Given the description of an element on the screen output the (x, y) to click on. 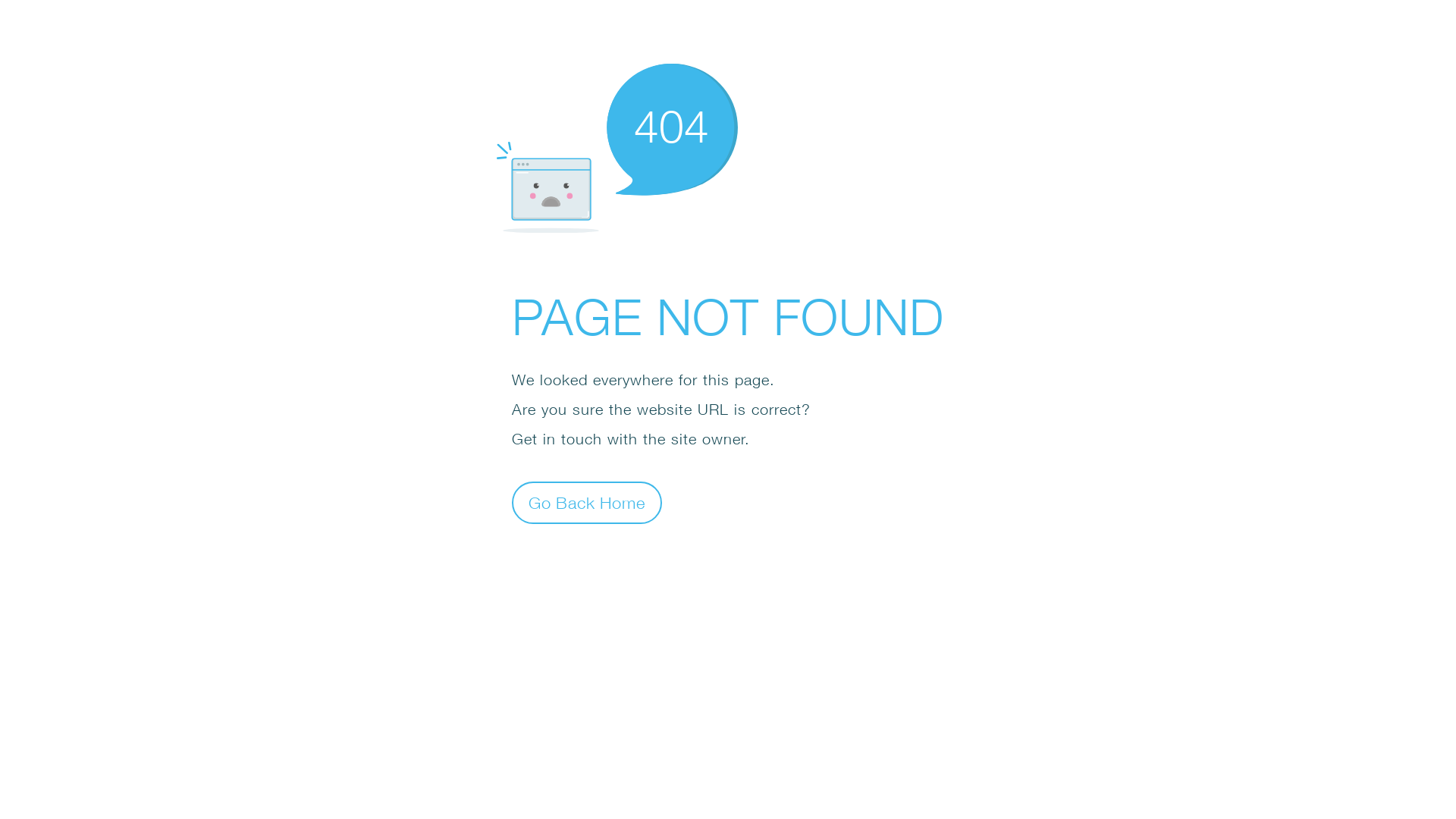
Go Back Home Element type: text (586, 502)
